Given the description of an element on the screen output the (x, y) to click on. 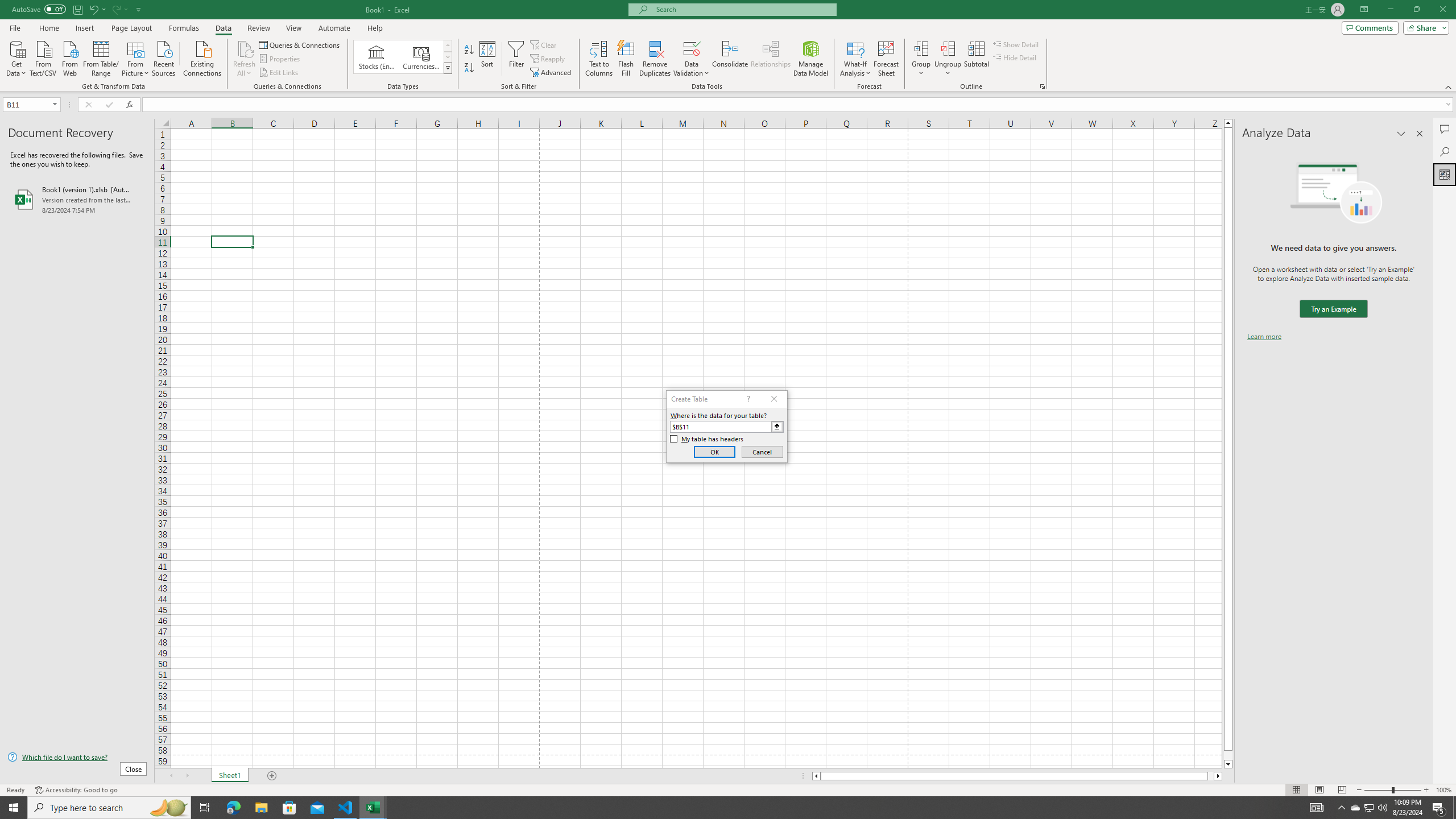
Automate (334, 28)
AutoSave (38, 9)
View (293, 28)
From Text/CSV (43, 57)
Formulas (184, 28)
Redo (115, 9)
Group... (921, 48)
Sort A to Z (469, 49)
Data Validation... (691, 48)
Stocks (English) (375, 56)
Comments (1369, 27)
Row up (448, 45)
Name Box (27, 104)
Page Break Preview (1342, 790)
System (6, 6)
